Given the description of an element on the screen output the (x, y) to click on. 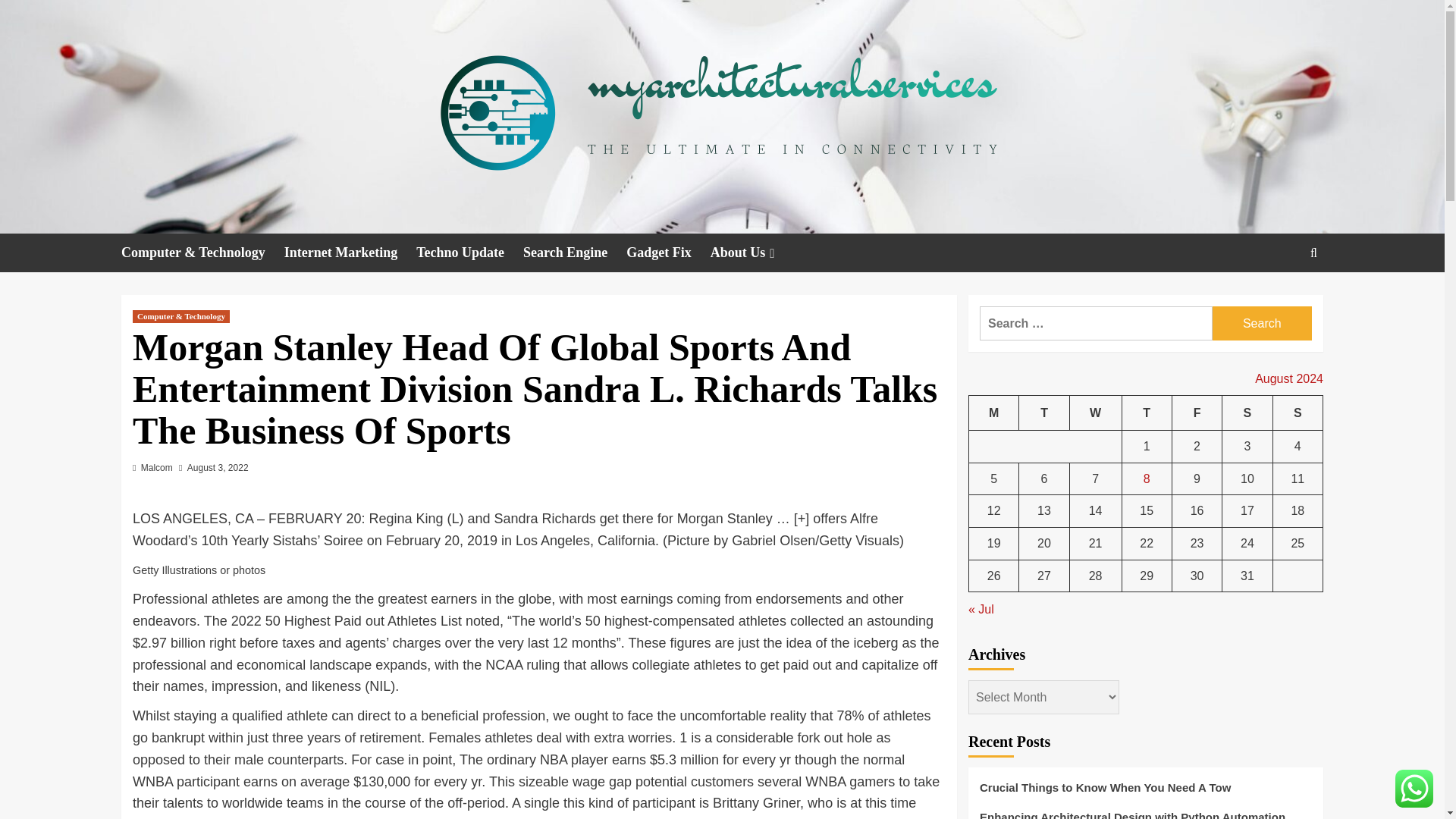
About Us (753, 252)
Search (1261, 323)
Tuesday (1043, 412)
Thursday (1146, 412)
Monday (994, 412)
Malcom (157, 467)
Sunday (1297, 412)
Gadget Fix (668, 252)
Saturday (1247, 412)
Wednesday (1094, 412)
